Given the description of an element on the screen output the (x, y) to click on. 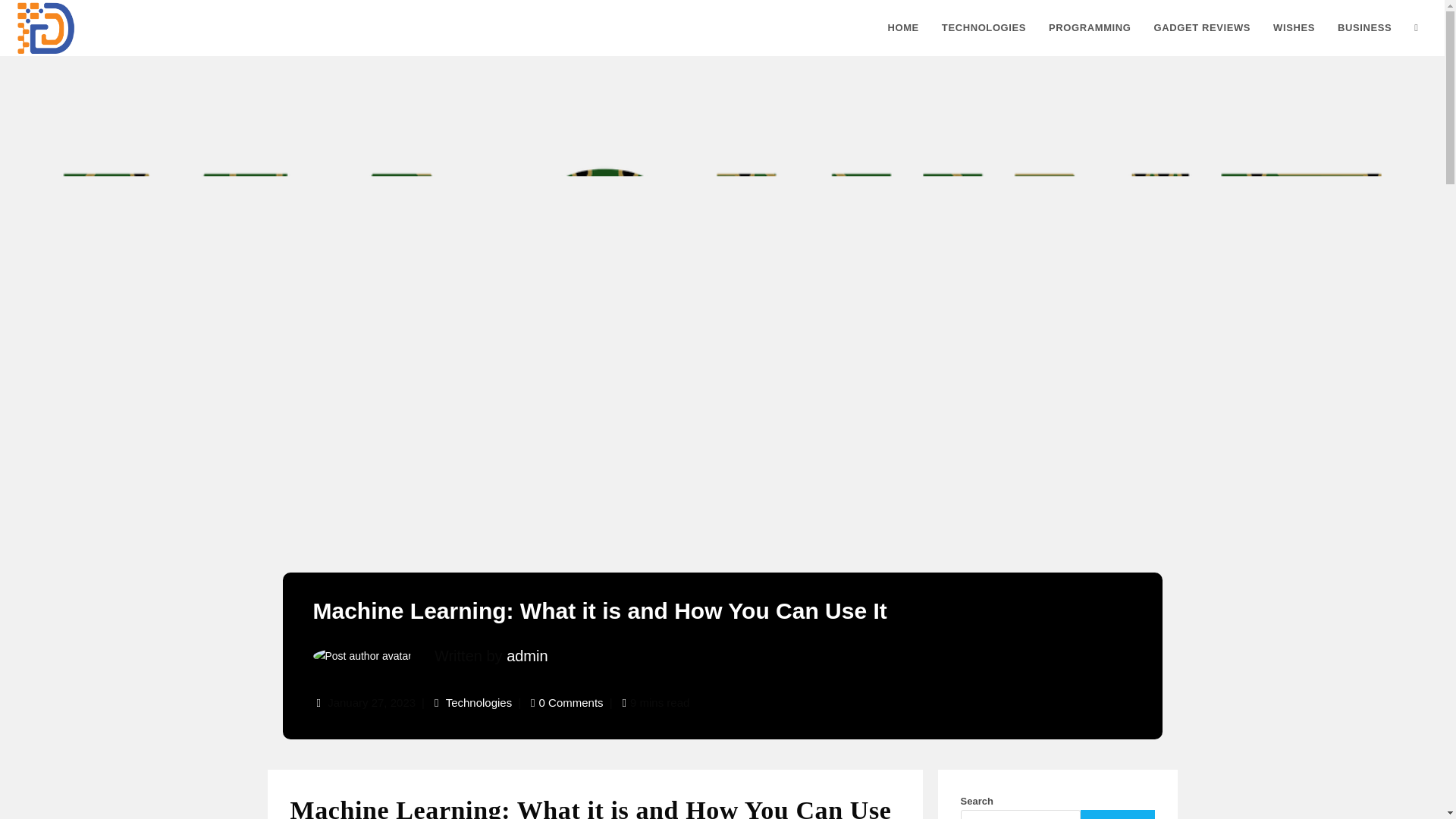
HOME (903, 28)
TECHNOLOGIES (983, 28)
admin (526, 655)
WISHES (1294, 28)
SEARCH (1117, 814)
PROGRAMMING (1088, 28)
BUSINESS (1364, 28)
Technologies (478, 702)
GADGET REVIEWS (1202, 28)
0 Comments (571, 702)
